Given the description of an element on the screen output the (x, y) to click on. 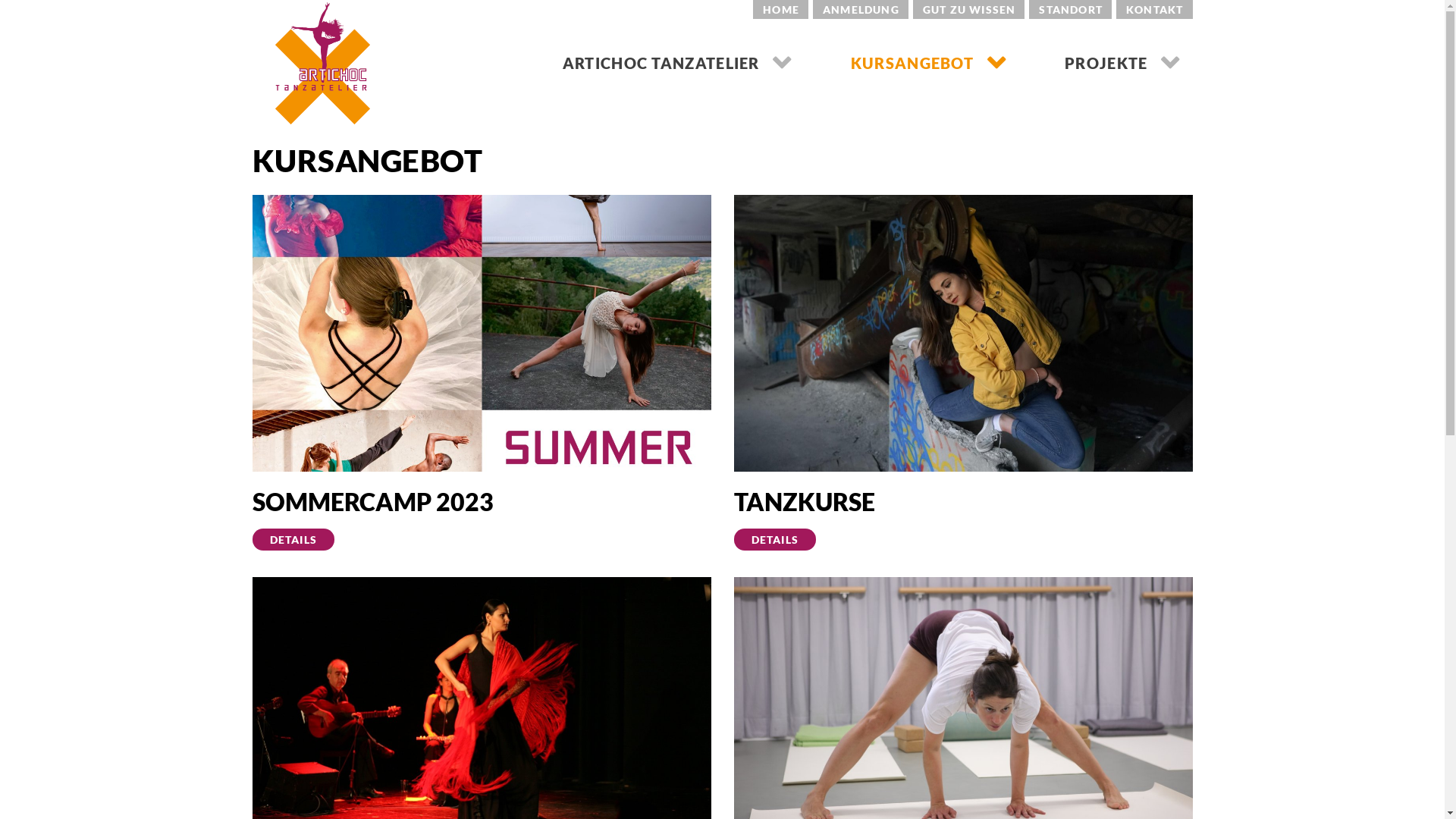
DETAILS Element type: text (292, 539)
TANZKURSE Element type: text (804, 501)
HOME Element type: text (780, 9)
DETAILS Element type: text (774, 539)
ARTICHOC TANZATELIER Element type: text (677, 75)
SOMMERCAMP 2023 Element type: text (371, 501)
ANMELDUNG Element type: text (860, 9)
PROJEKTE Element type: text (1122, 75)
KONTAKT Element type: text (1154, 9)
GUT ZU WISSEN Element type: text (969, 9)
KURSANGEBOT Element type: text (928, 75)
STANDORT Element type: text (1070, 9)
